Given the description of an element on the screen output the (x, y) to click on. 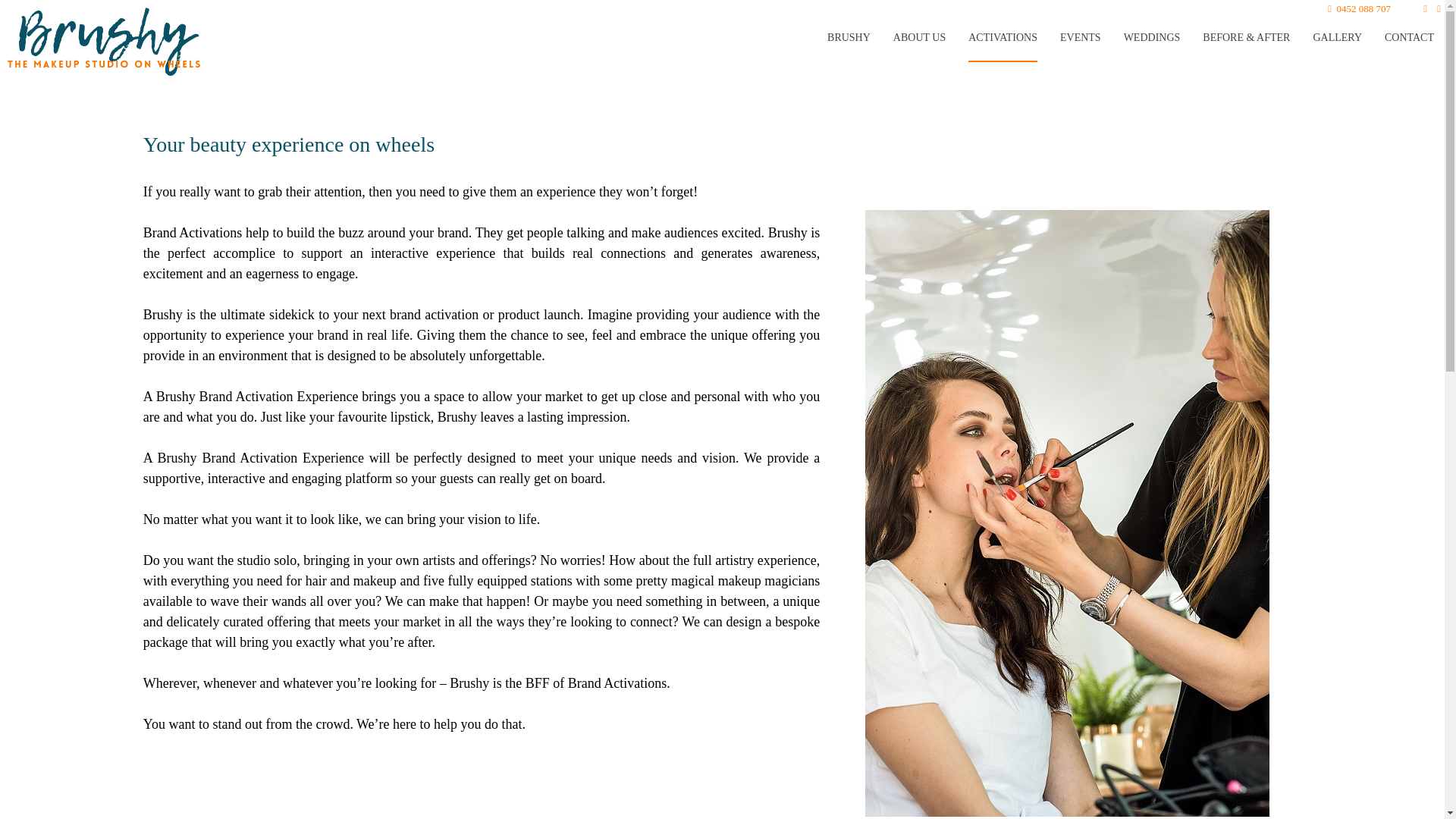
EVENTS (1079, 37)
CONTACT (1409, 37)
BRUSHY (848, 37)
Brushy (109, 47)
 0452 088 707 (1358, 8)
Home (109, 47)
ACTIVATIONS (1002, 38)
GALLERY (1337, 37)
WEDDINGS (1152, 37)
